Given the description of an element on the screen output the (x, y) to click on. 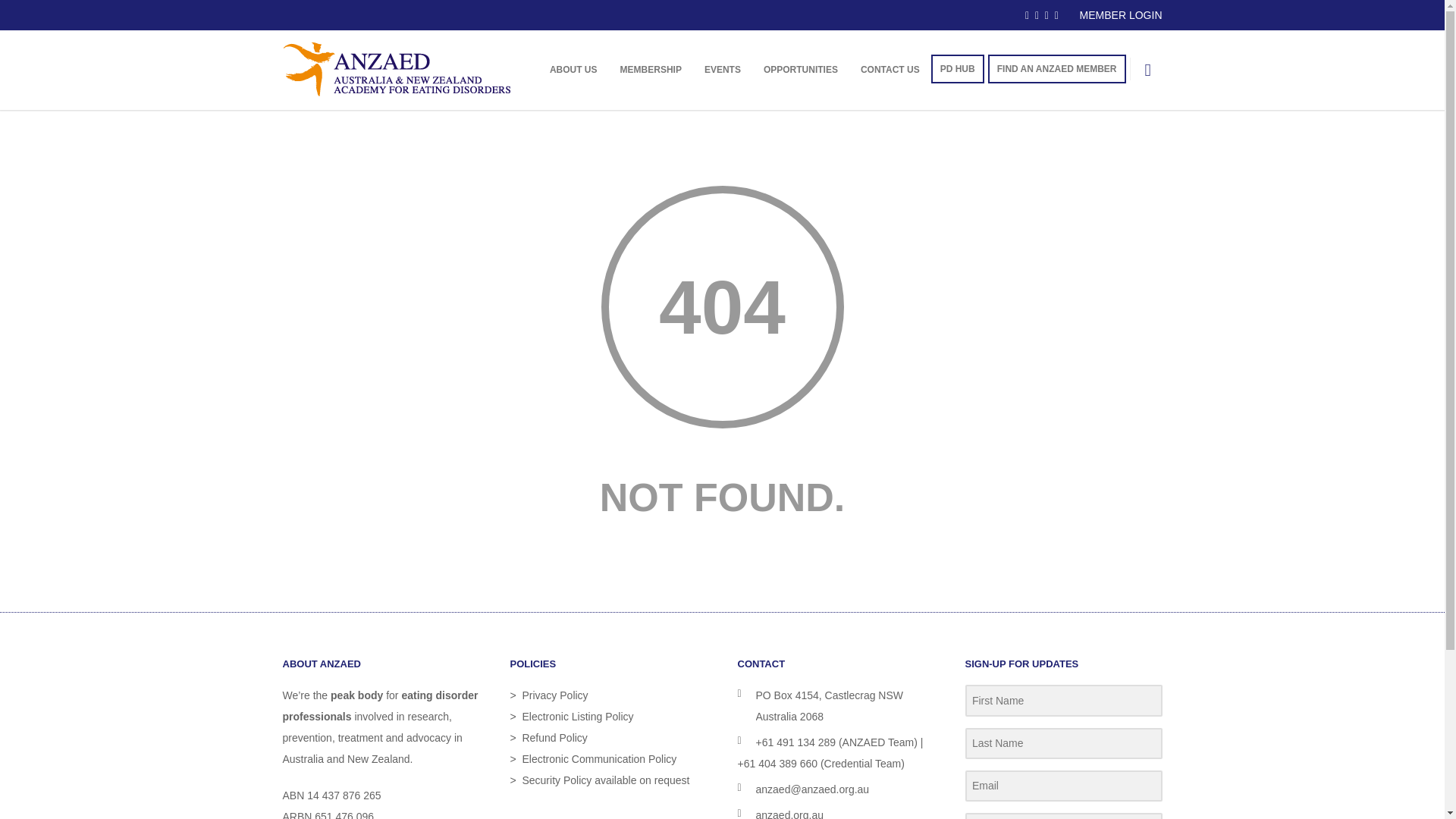
MEMBER LOGIN Element type: text (1120, 14)
EVENTS Element type: text (722, 69)
OPPORTUNITIES Element type: text (800, 69)
Twitter Element type: hover (1046, 15)
YouTube Element type: hover (1056, 15)
LinkedIn Element type: hover (1036, 15)
Electronic Communication Policy Element type: text (598, 759)
Electronic Listing Policy Element type: text (577, 716)
Refund Policy Element type: text (553, 737)
Privacy Policy Element type: text (554, 695)
ABOUT US Element type: text (573, 69)
PD HUB Element type: text (957, 68)
Facebook Element type: hover (1027, 15)
anzaed@anzaed.org.au Element type: text (812, 789)
FIND AN ANZAED MEMBER Element type: text (1057, 68)
CONTACT US Element type: text (890, 69)
MEMBERSHIP Element type: text (650, 69)
